Given the description of an element on the screen output the (x, y) to click on. 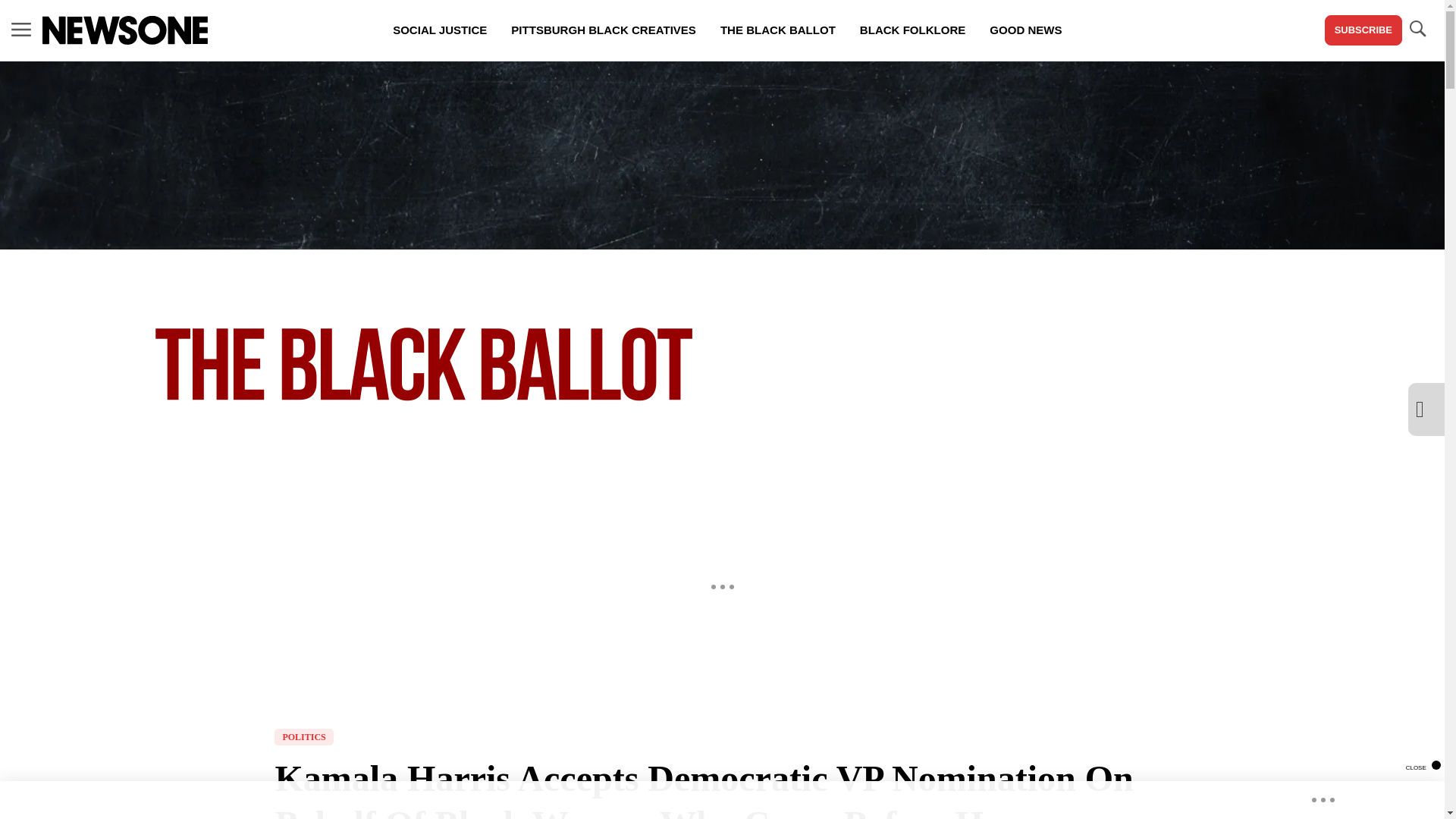
PITTSBURGH BLACK CREATIVES (603, 30)
MENU (20, 29)
THE BLACK BALLOT (777, 30)
SUBSCRIBE (1363, 30)
MENU (20, 30)
TOGGLE SEARCH (1417, 30)
POLITICS (304, 736)
GOOD NEWS (1025, 30)
TOGGLE SEARCH (1417, 28)
BLACK FOLKLORE (911, 30)
